Given the description of an element on the screen output the (x, y) to click on. 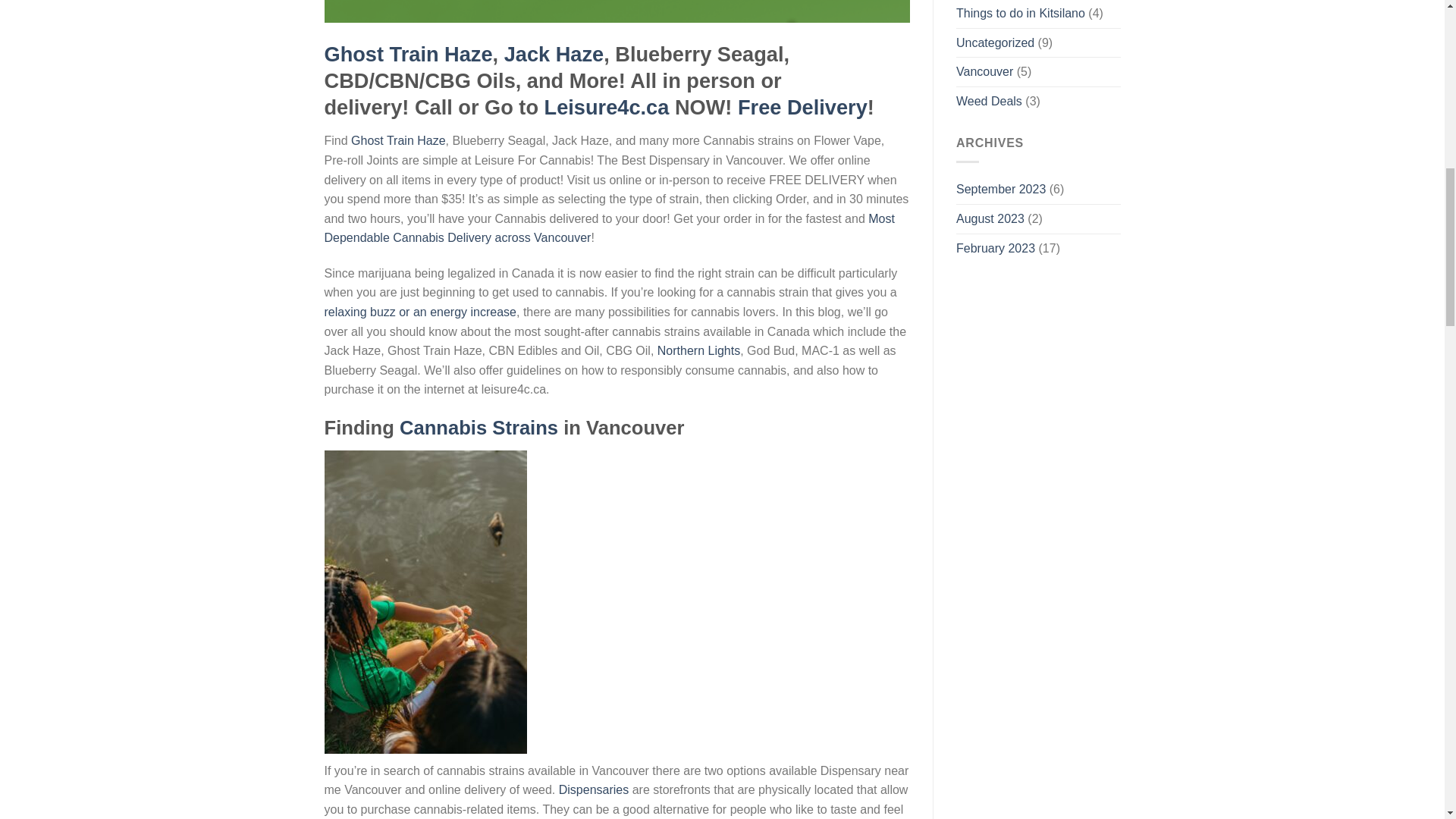
relaxing buzz or an energy increase (420, 311)
Free Delivery (802, 106)
Northern Lights (698, 350)
Jack Haze (553, 54)
Cannabis Strains (477, 427)
Ghost Train Haze (408, 54)
Leisure4c.ca (606, 106)
Ghost Train Haze (397, 140)
Dispensaries (593, 789)
Most Dependable Cannabis Delivery across Vancouver (609, 228)
